Given the description of an element on the screen output the (x, y) to click on. 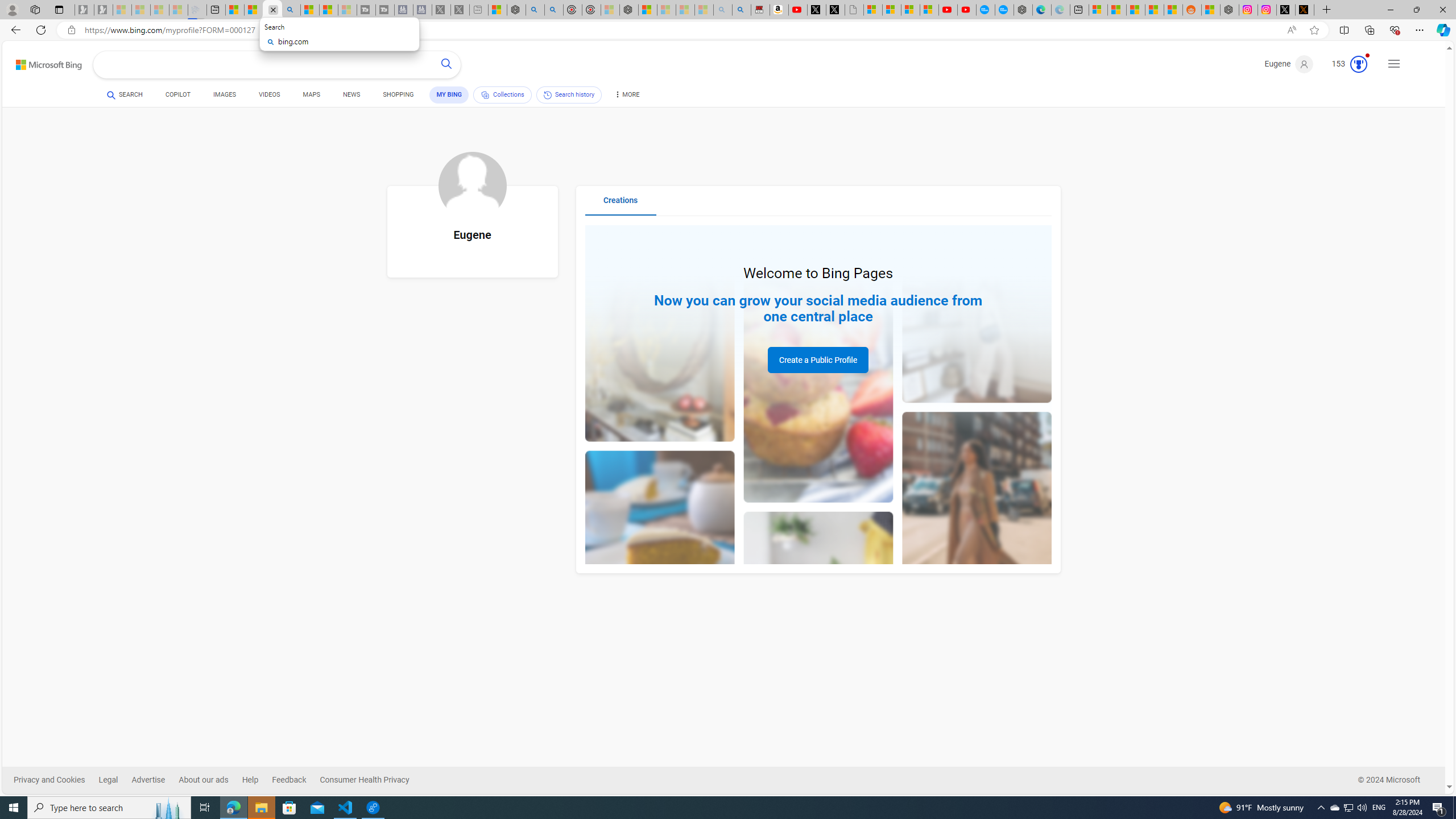
Creations (620, 204)
Streaming Coverage | T3 - Sleeping (366, 9)
Shanghai, China hourly forecast | Microsoft Weather (1135, 9)
VIDEOS (268, 94)
Search history (568, 94)
Shanghai, China Weather trends | Microsoft Weather (1173, 9)
